Given the description of an element on the screen output the (x, y) to click on. 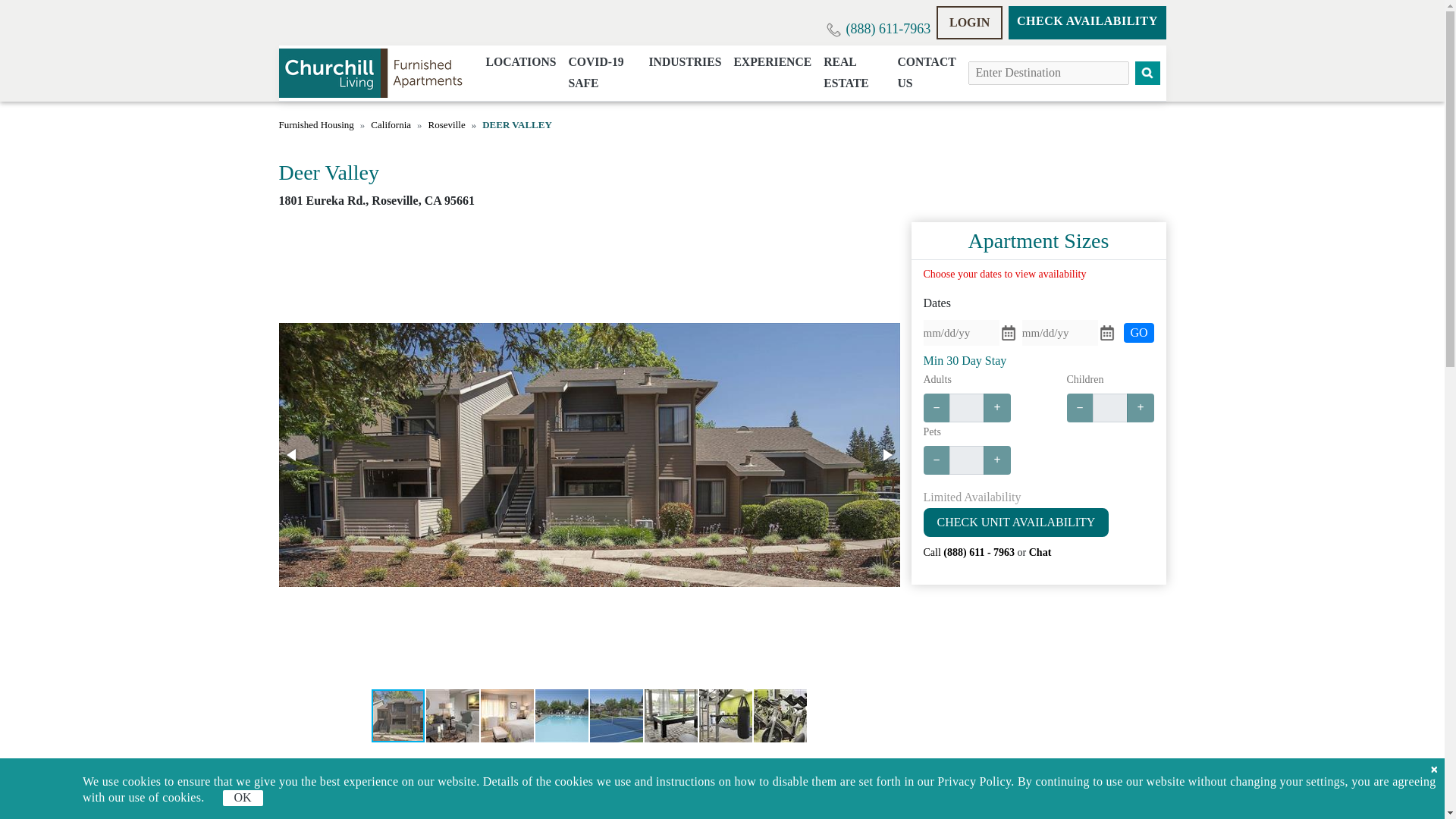
. (316, 125)
Image of Deer Valley (780, 715)
Image of Deer Valley (671, 715)
EXPERIENCE (771, 61)
Image of Deer Valley (561, 715)
Chat (1040, 552)
LOGIN (969, 22)
Image of Deer Valley (398, 715)
Roseville (446, 125)
LOCATIONS (520, 61)
Tennis Court (586, 780)
California (390, 125)
Image of Deer Valley (725, 715)
